Given the description of an element on the screen output the (x, y) to click on. 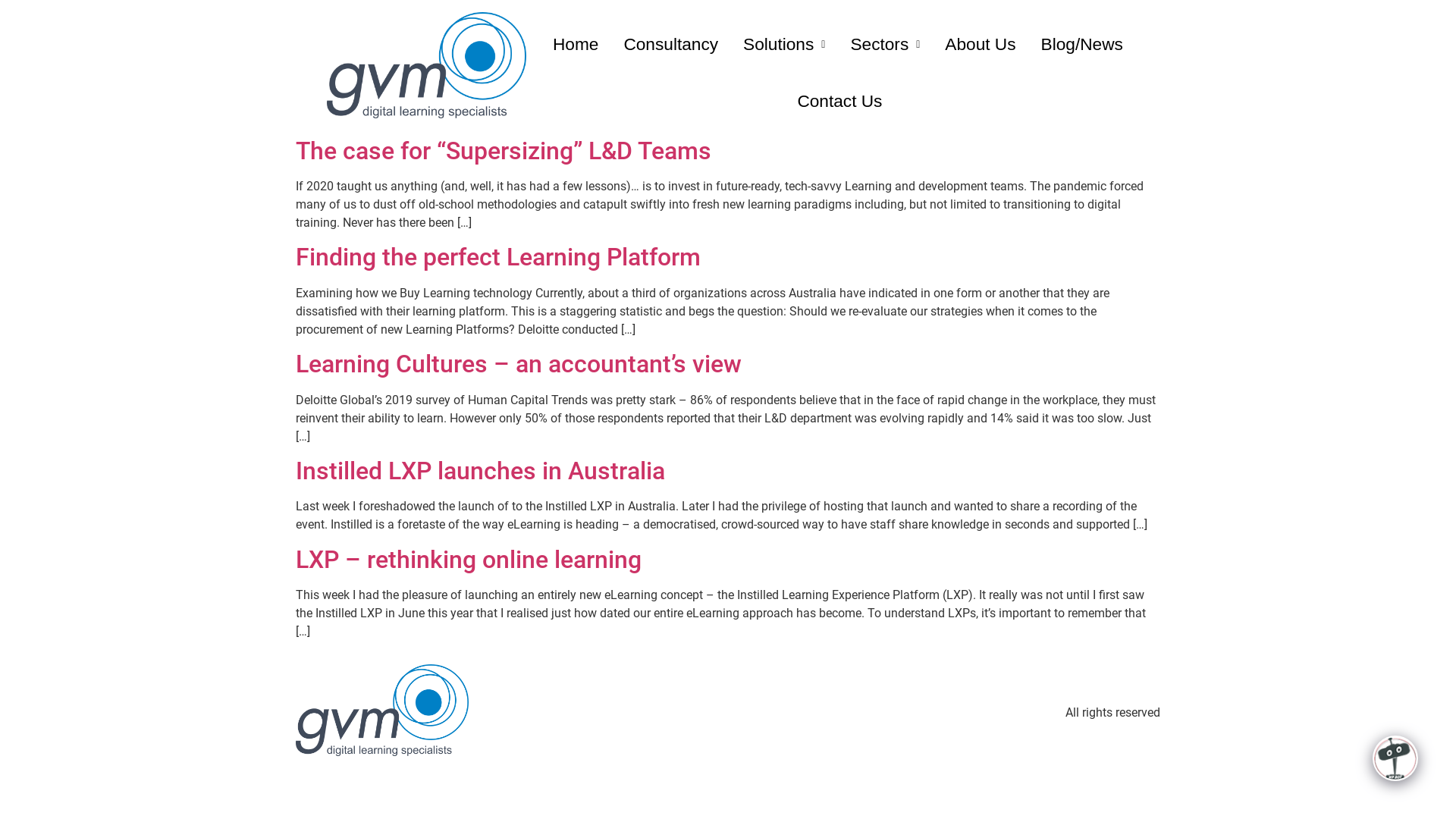
Sectors Element type: text (884, 43)
Finding the perfect Learning Platform Element type: text (497, 256)
Contact Us Element type: text (839, 100)
Solutions Element type: text (783, 43)
Instilled LXP launches in Australia Element type: text (480, 470)
About Us Element type: text (980, 43)
Home Element type: text (575, 43)
Consultancy Element type: text (670, 43)
Blog/News Element type: text (1081, 43)
